Given the description of an element on the screen output the (x, y) to click on. 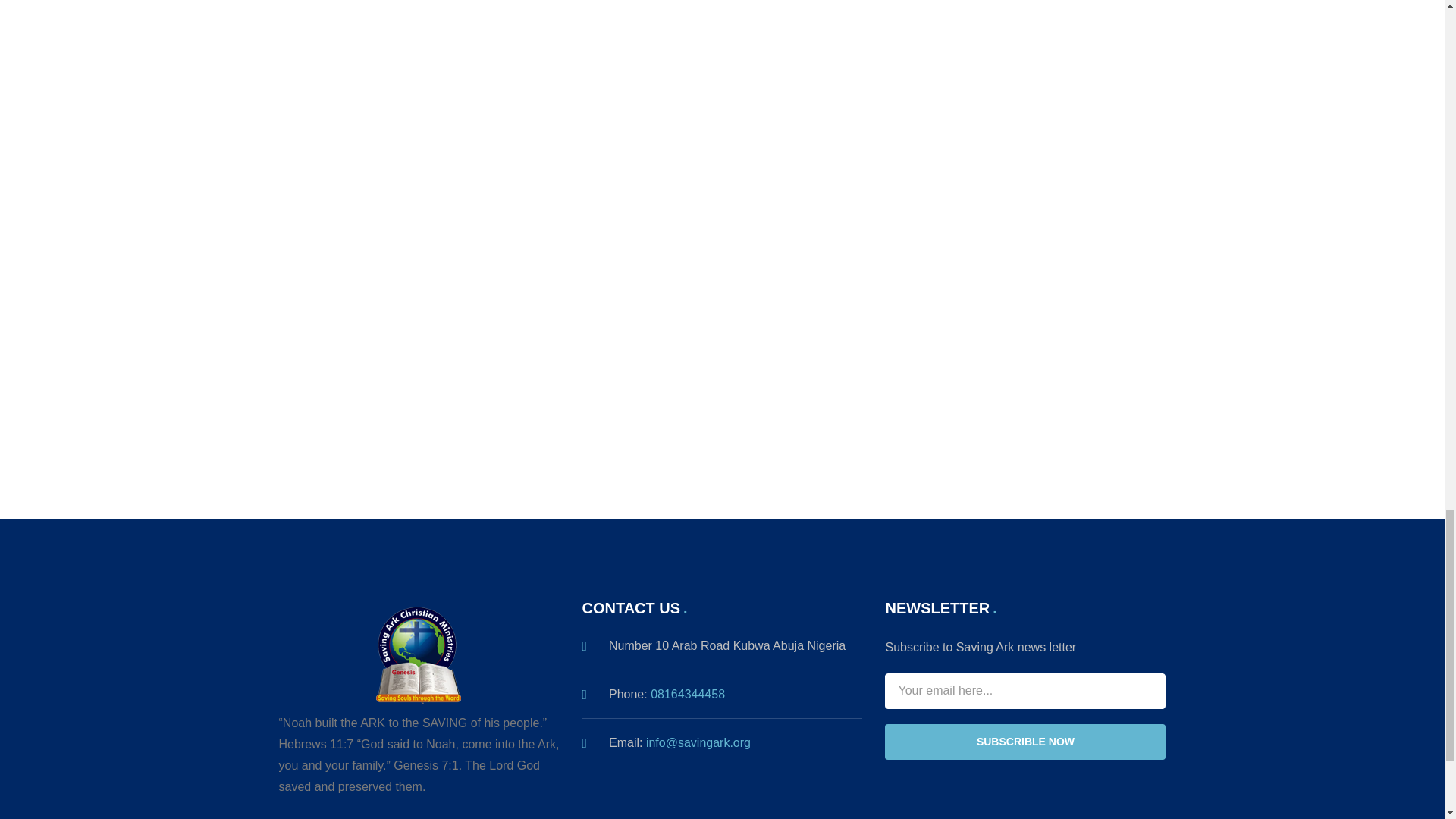
SUBSCRIBLE NOW (1025, 741)
08164344458 (687, 694)
